Given the description of an element on the screen output the (x, y) to click on. 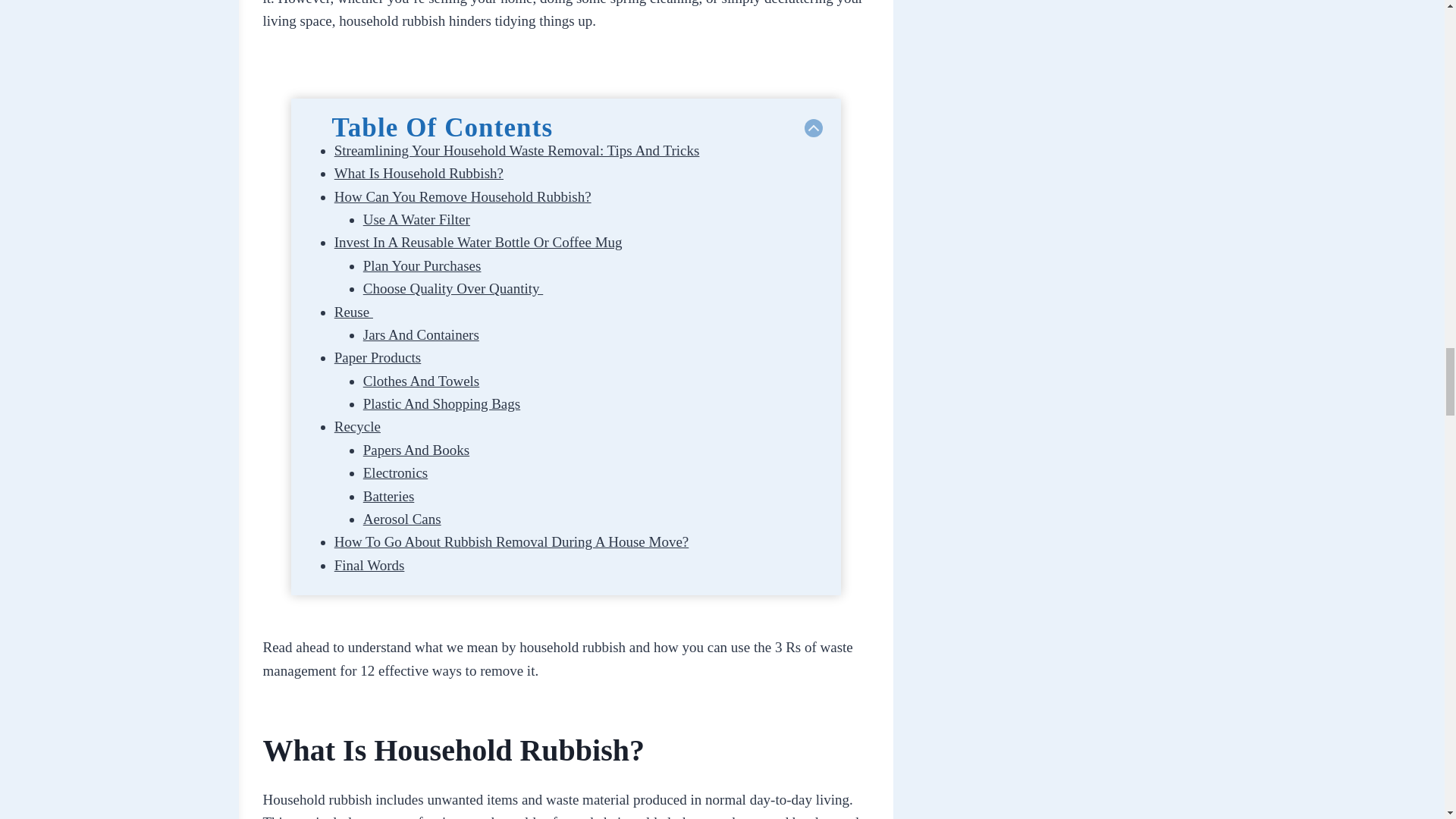
Aerosol Cans (401, 519)
Batteries (388, 496)
Final Words (369, 565)
Streamlining Your Household Waste Removal: Tips And Tricks (517, 150)
Recycle (357, 426)
How To Go About Rubbish Removal During A House Move? (511, 541)
What Is Household Rubbish? (418, 172)
Plan Your Purchases (421, 265)
Choose Quality Over Quantity  (452, 288)
Jars And Containers (420, 334)
Use A Water Filter (416, 219)
Papers And Books (415, 449)
How Can You Remove Household Rubbish? (462, 196)
Invest In A Reusable Water Bottle Or Coffee Mug (478, 242)
Paper Products (378, 357)
